Given the description of an element on the screen output the (x, y) to click on. 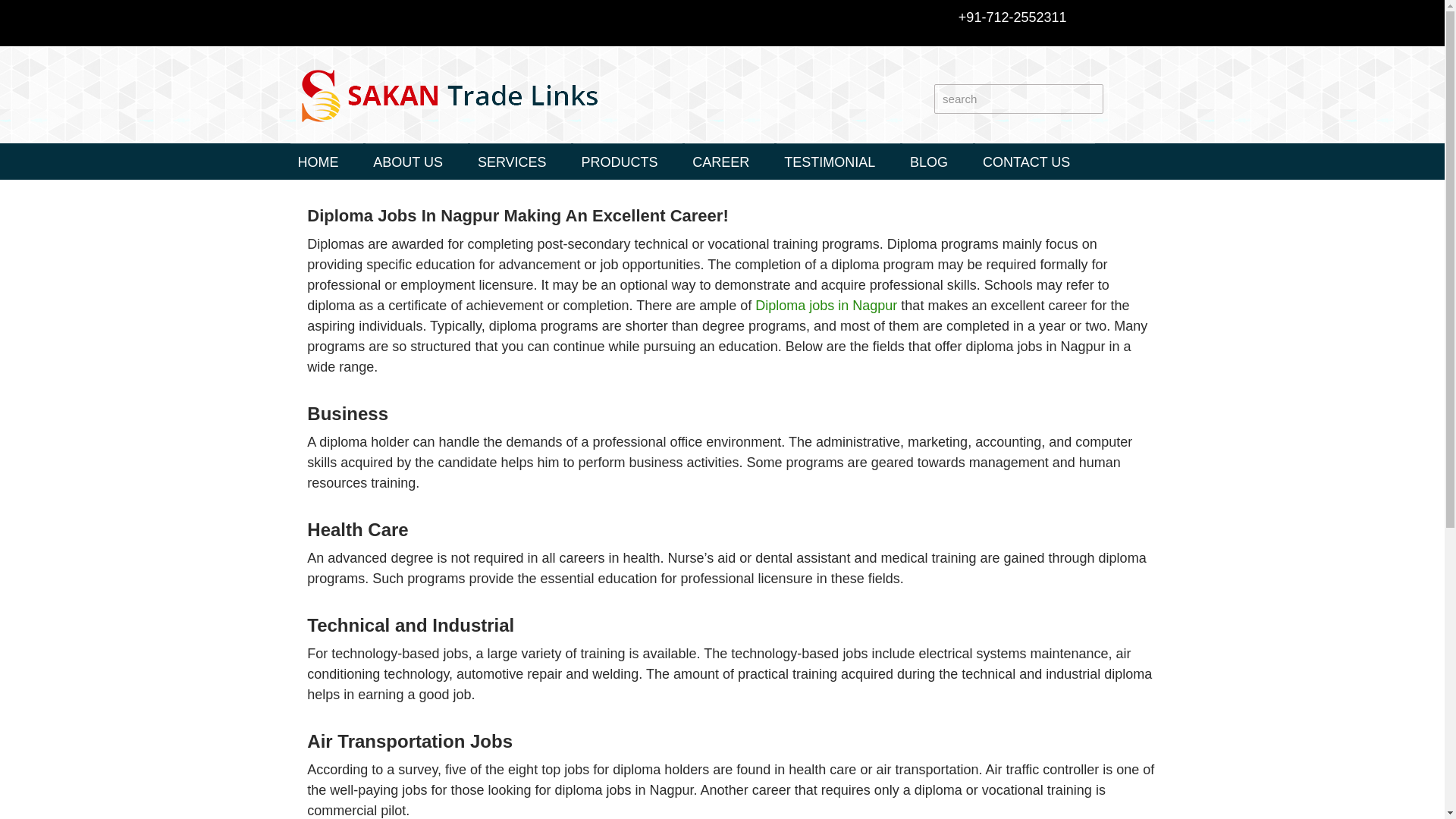
Diploma jobs in Nagpur (825, 305)
BLOG (928, 162)
PRODUCTS (619, 162)
TESTIMONIAL (829, 162)
HOME (317, 162)
CONTACT US (1026, 162)
SERVICES (512, 162)
CAREER (720, 162)
ABOUT US (407, 162)
